Given the description of an element on the screen output the (x, y) to click on. 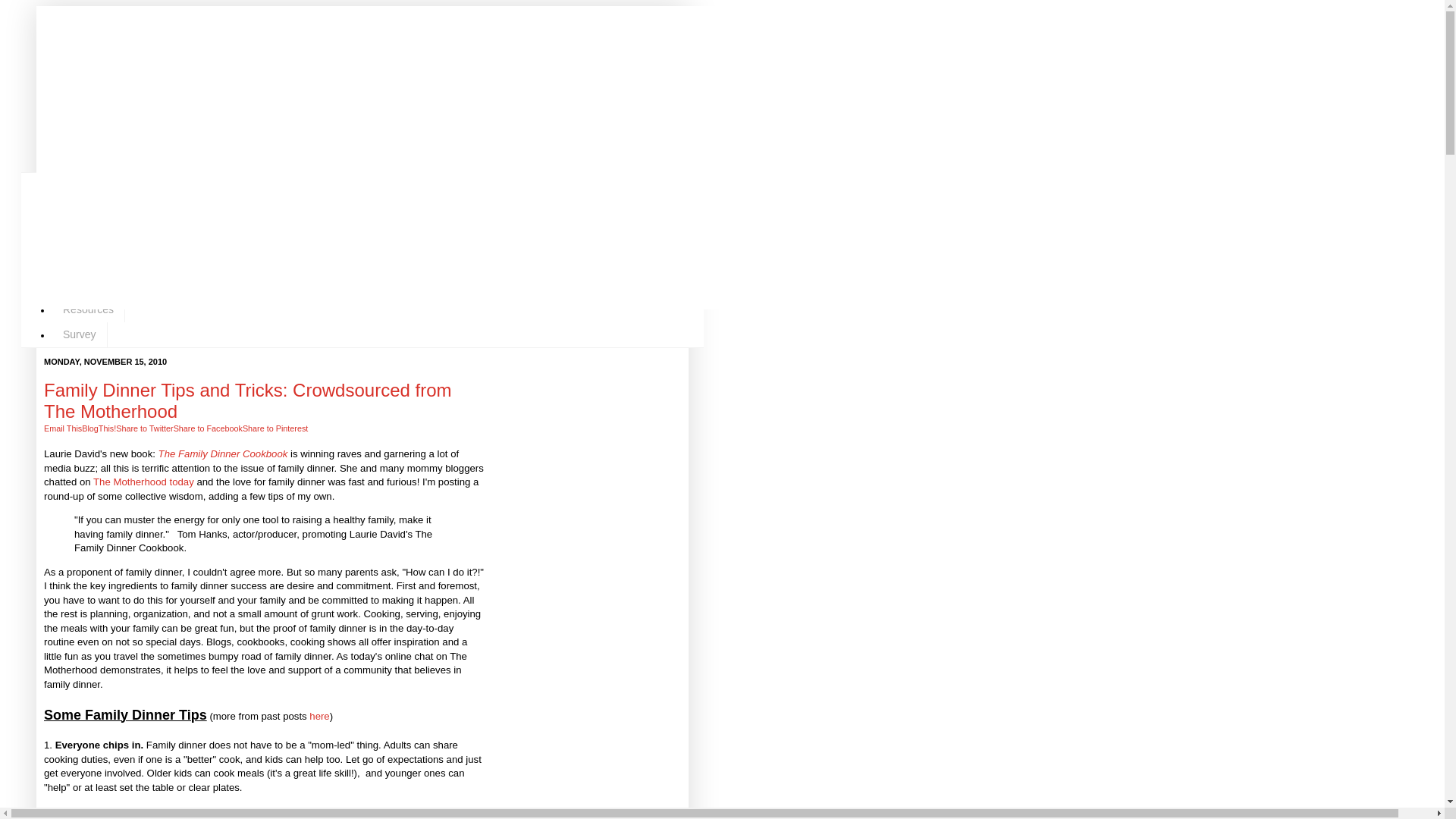
Press (75, 284)
here (318, 715)
Share to Twitter (144, 428)
Family Dinner Tips (105, 235)
Share to Facebook (208, 428)
eatdinner.org (175, 70)
Share to Pinterest (275, 428)
The Motherhood today (143, 481)
The Family Dinner Cookbook (223, 453)
Resources (87, 309)
Email This (62, 428)
About (75, 185)
Email This (62, 428)
Blog (73, 210)
Why Family Dinner? (110, 260)
